Given the description of an element on the screen output the (x, y) to click on. 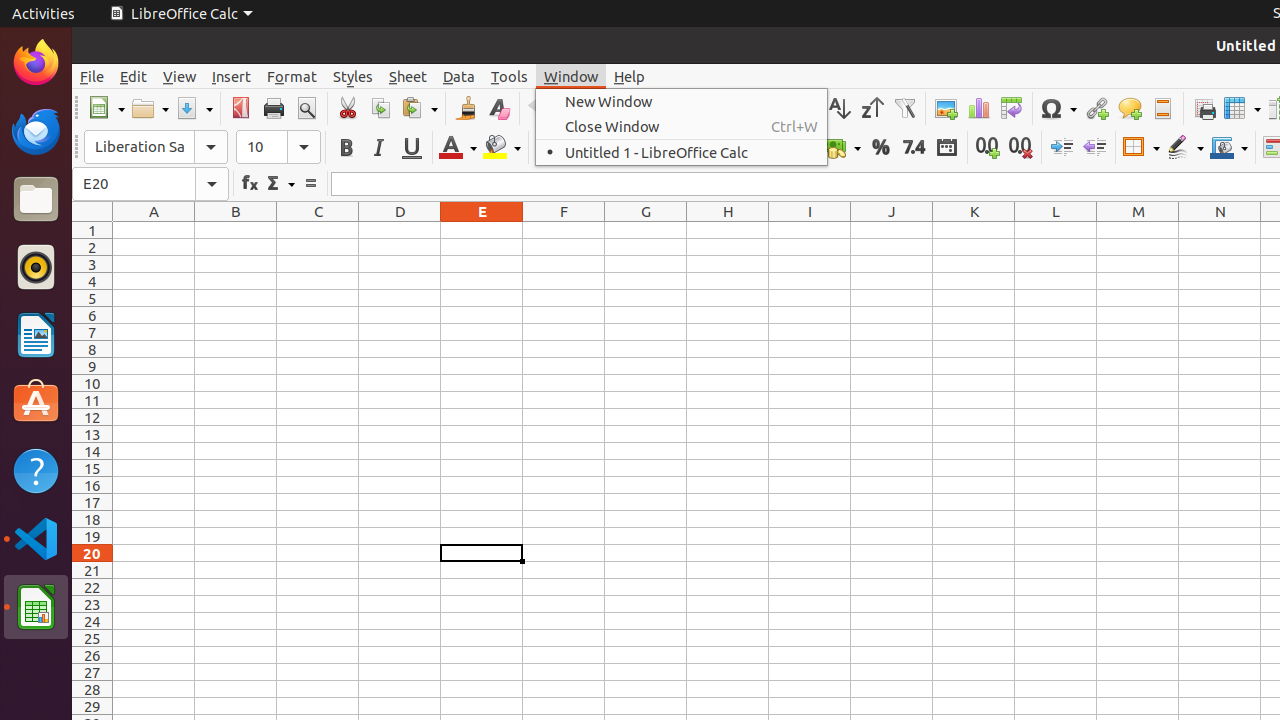
Print Preview Element type: toggle-button (306, 108)
New Window Element type: menu-item (681, 101)
Bold Element type: toggle-button (345, 147)
F1 Element type: table-cell (564, 230)
AutoFilter Element type: push-button (904, 108)
